Given the description of an element on the screen output the (x, y) to click on. 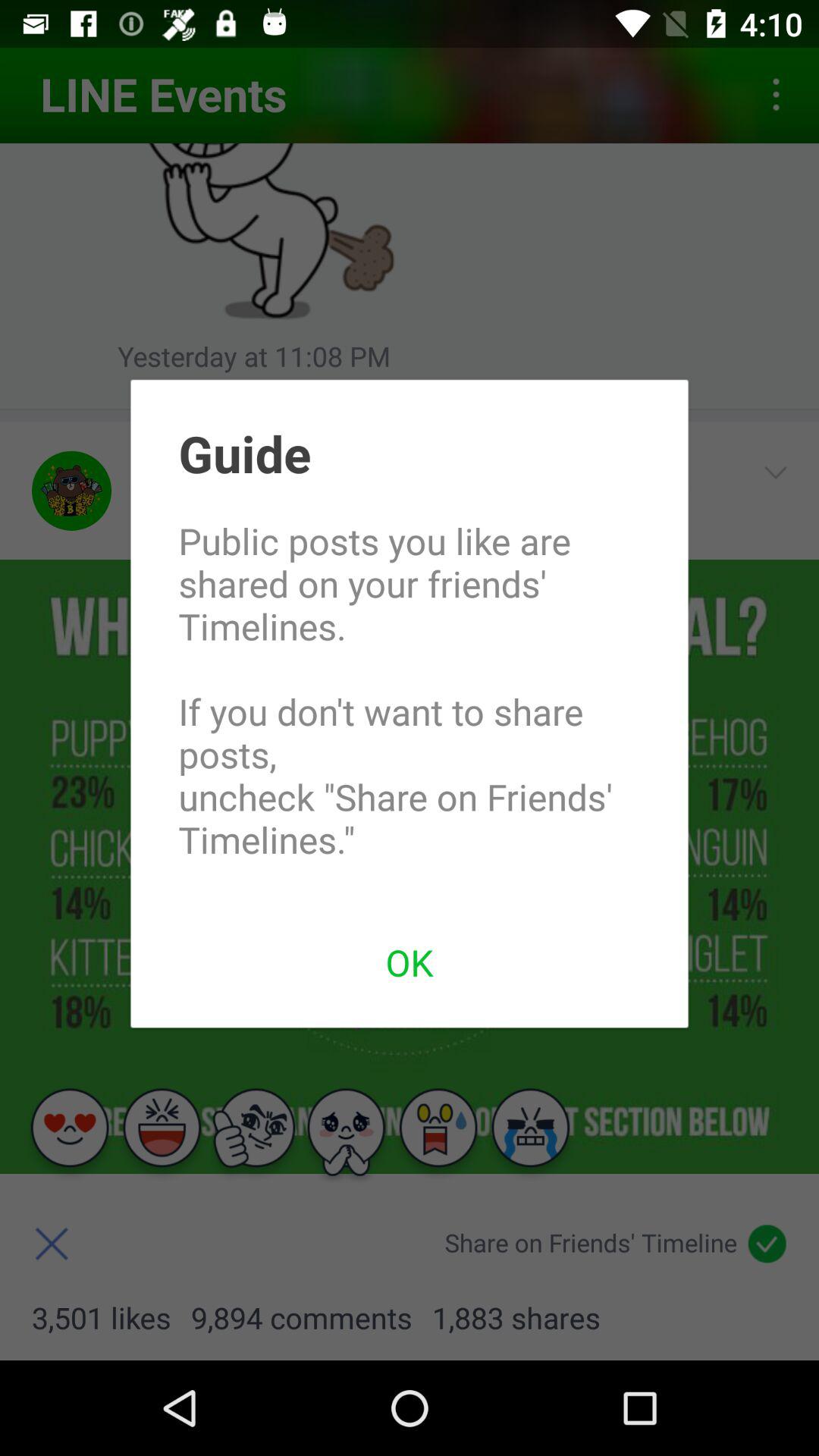
press the app below the public posts you icon (409, 962)
